Given the description of an element on the screen output the (x, y) to click on. 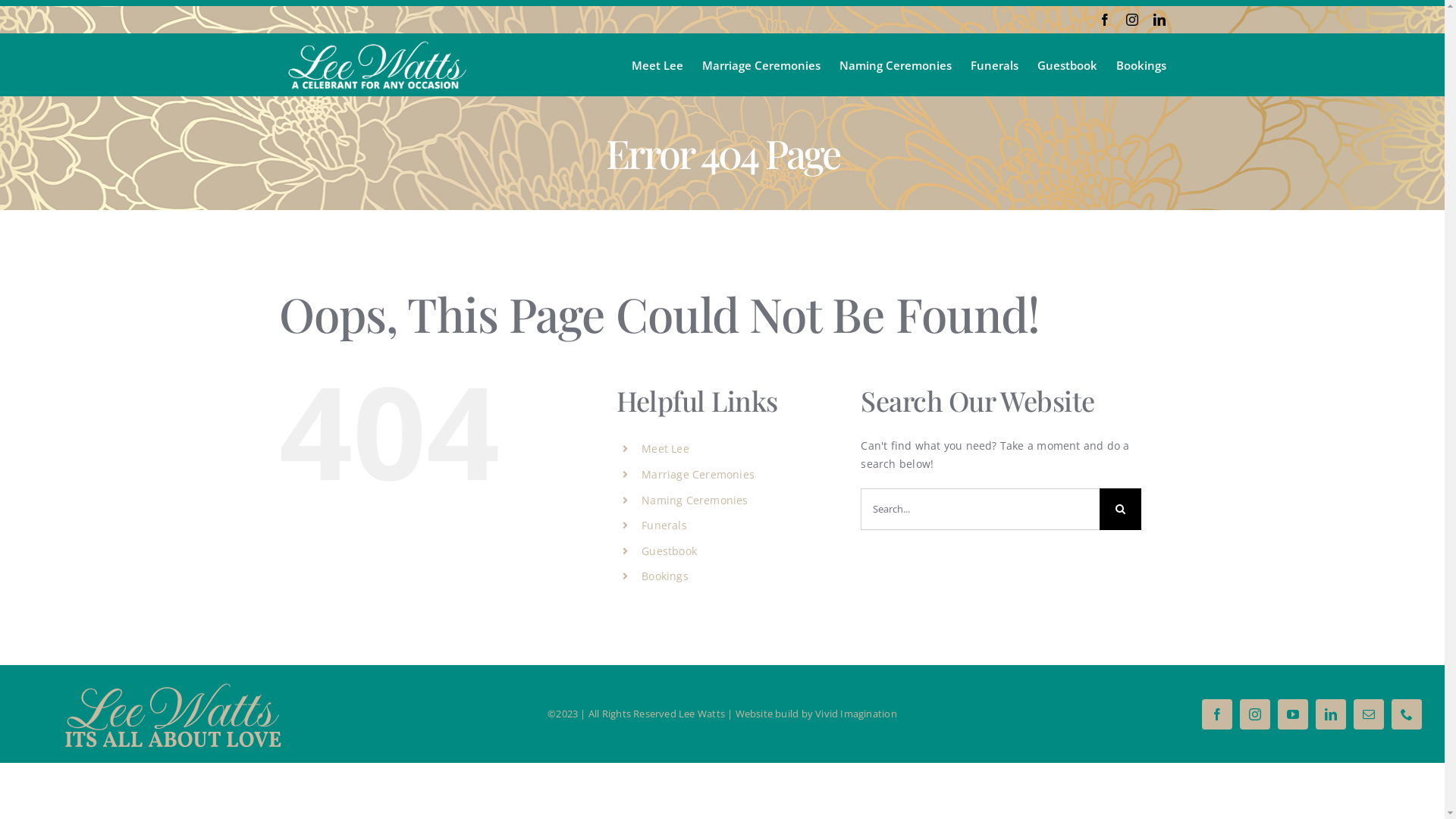
Marriage Ceremonies Element type: text (697, 474)
Naming Ceremonies Element type: text (895, 64)
Guestbook Element type: text (668, 550)
Funerals Element type: text (664, 524)
Guestbook Element type: text (1067, 64)
Vivid Imagination Element type: text (856, 713)
Bookings Element type: text (664, 575)
LEE-WATTS-footerlogo Element type: hover (174, 713)
Naming Ceremonies Element type: text (694, 499)
Marriage Ceremonies Element type: text (761, 64)
Funerals Element type: text (994, 64)
Bookings Element type: text (1141, 64)
Meet Lee Element type: text (657, 64)
Meet Lee Element type: text (665, 448)
